Given the description of an element on the screen output the (x, y) to click on. 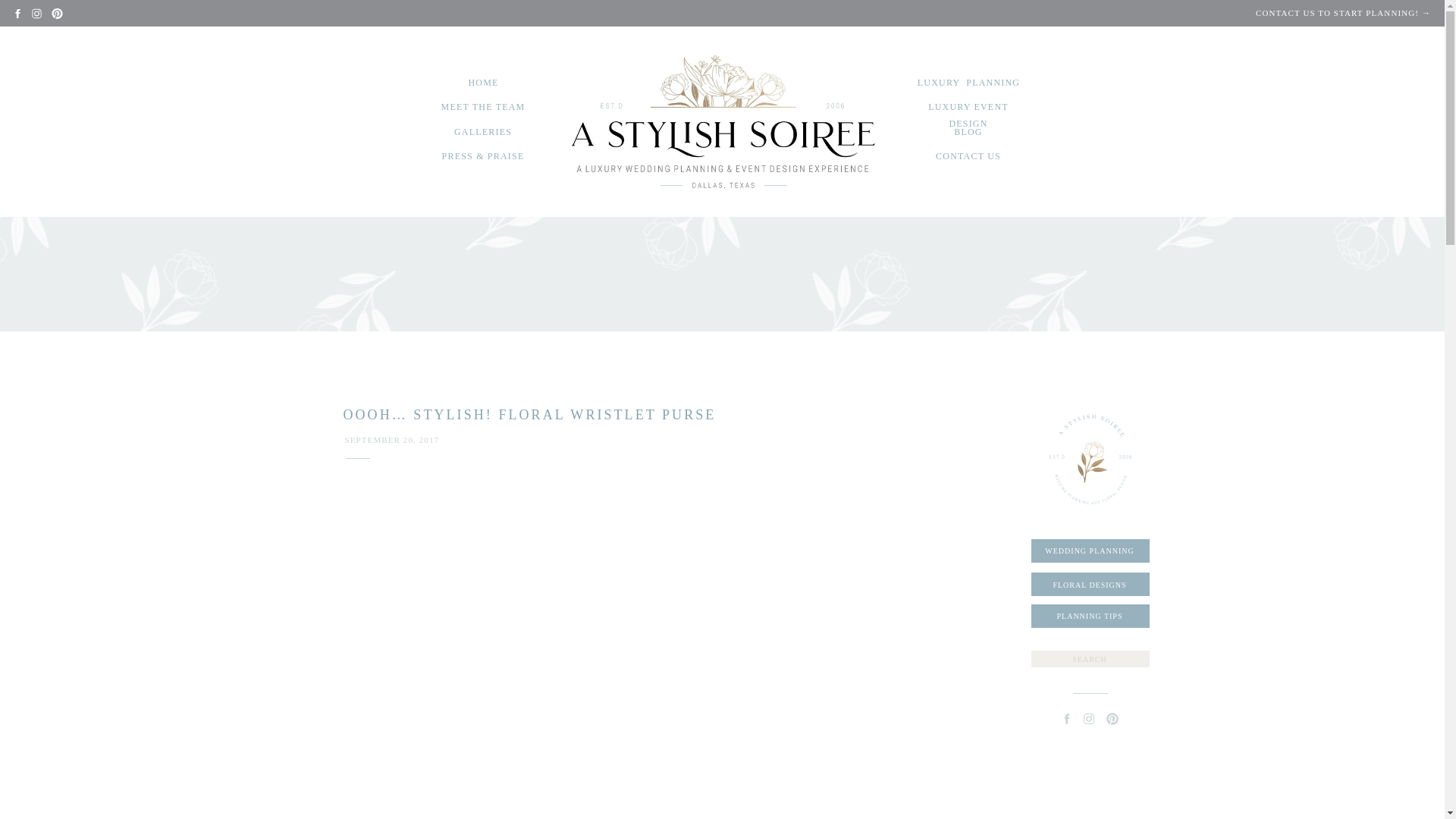
LUXURY  PLANNING (968, 85)
BLOG (968, 134)
LUXURY EVENT DESIGN (968, 108)
CONTACT US (968, 158)
GALLERIES (483, 134)
WEDDING PLANNING (1088, 550)
MEET THE TEAM (482, 108)
FLORAL DESIGNS (1088, 583)
HOME (484, 85)
PLANNING TIPS (1088, 614)
